Given the description of an element on the screen output the (x, y) to click on. 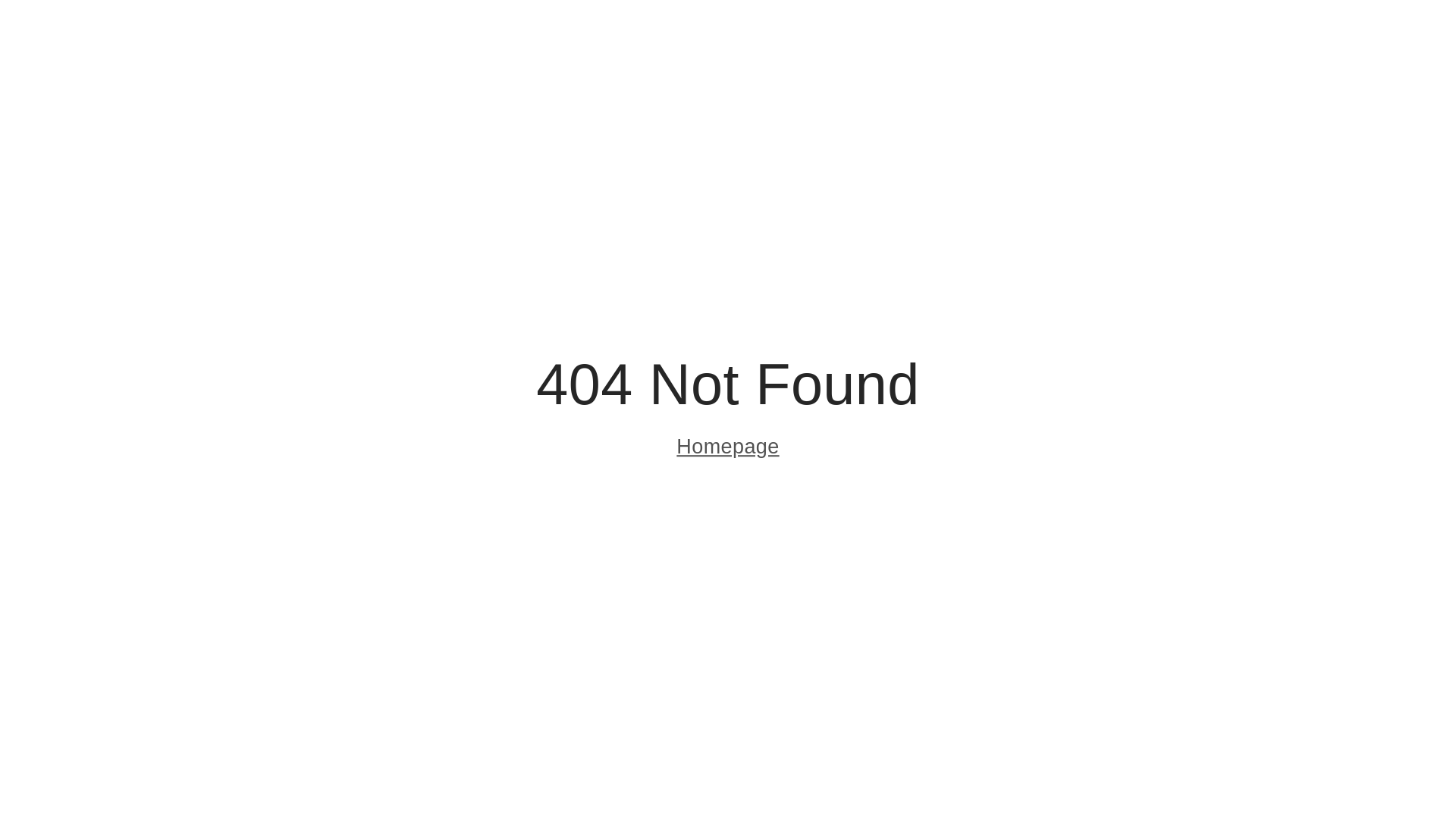
Homepage Element type: text (727, 448)
